Given the description of an element on the screen output the (x, y) to click on. 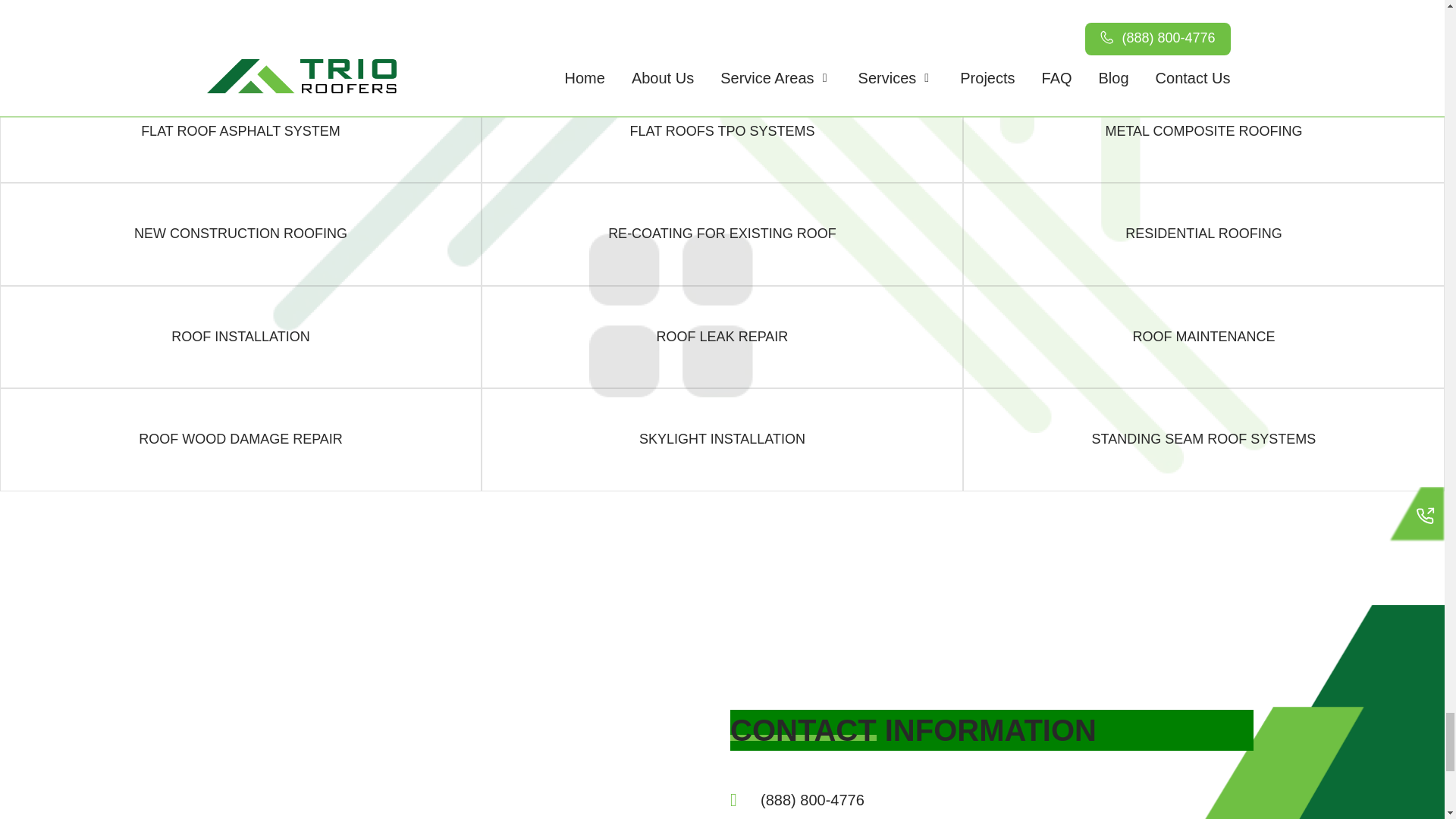
Mountain View (426, 746)
